Given the description of an element on the screen output the (x, y) to click on. 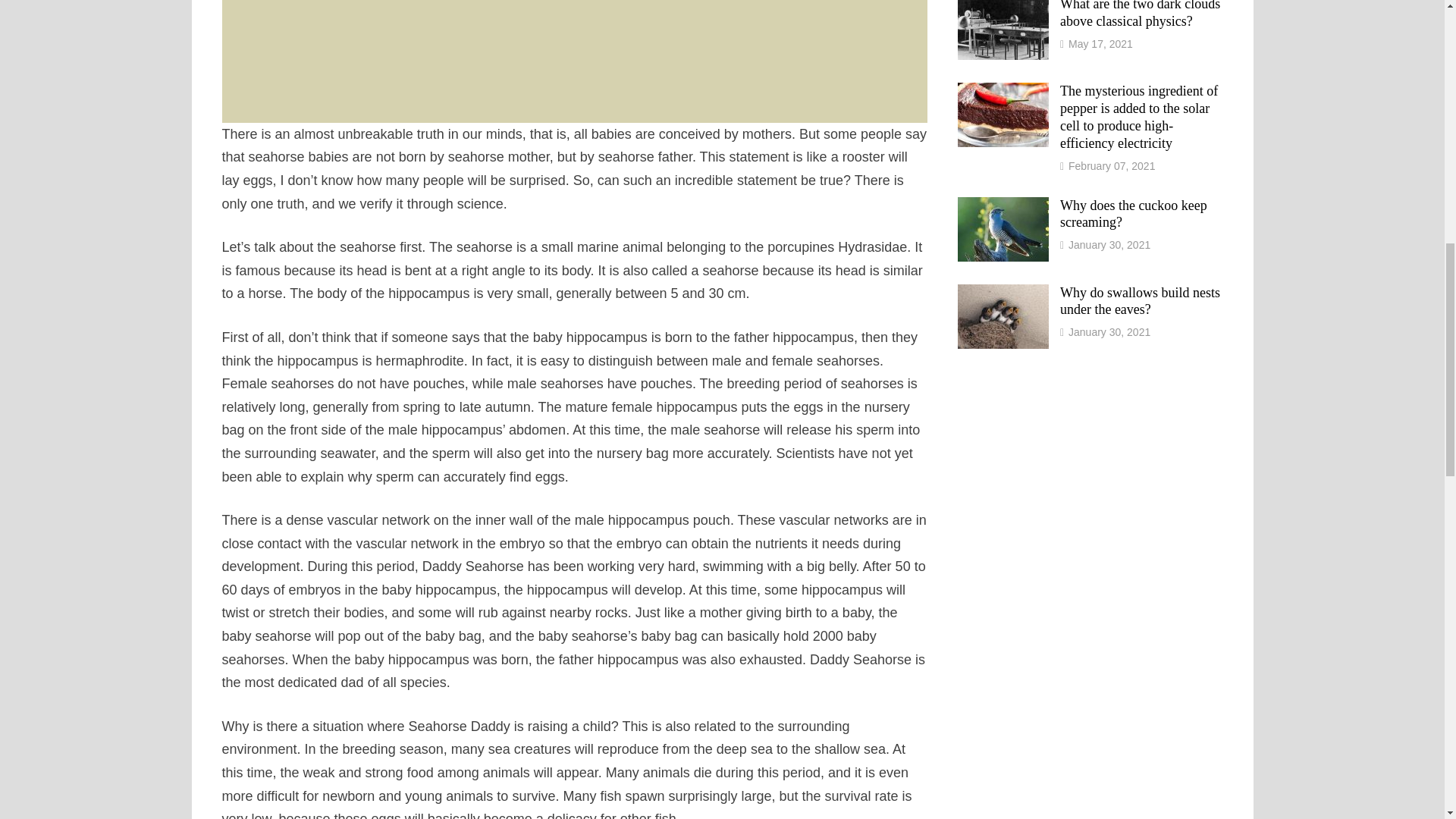
Advertisement (573, 61)
What are the two dark clouds above classical physics? (1003, 6)
